Given the description of an element on the screen output the (x, y) to click on. 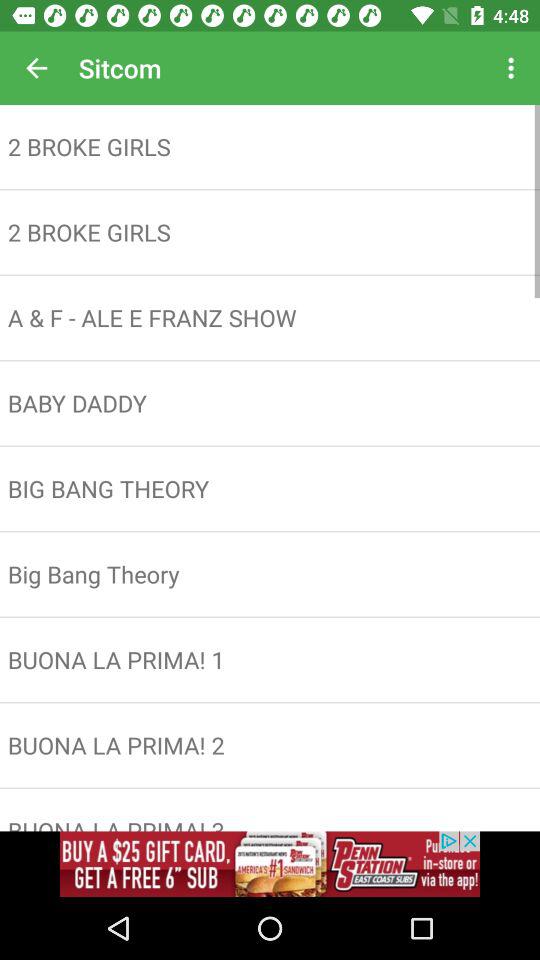
view advertisement (270, 864)
